Given the description of an element on the screen output the (x, y) to click on. 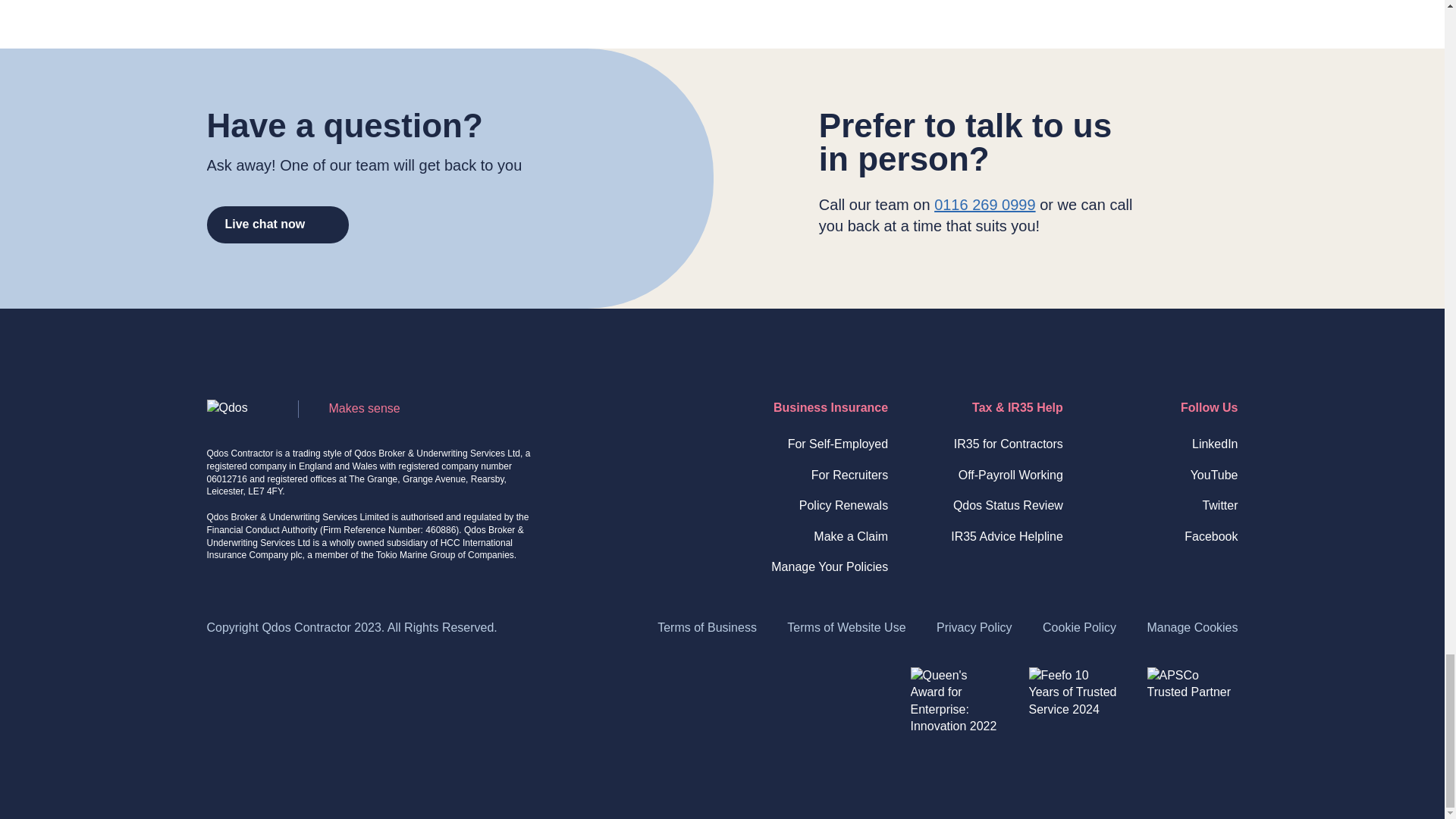
Feefo - 10 Years of Trusted Service 2024 (1073, 712)
Terms of Business (707, 626)
Cookie Policy (1079, 626)
Privacy Policy (973, 626)
Call 0116 269 0999 (984, 204)
Terms of Website Use (846, 626)
